Given the description of an element on the screen output the (x, y) to click on. 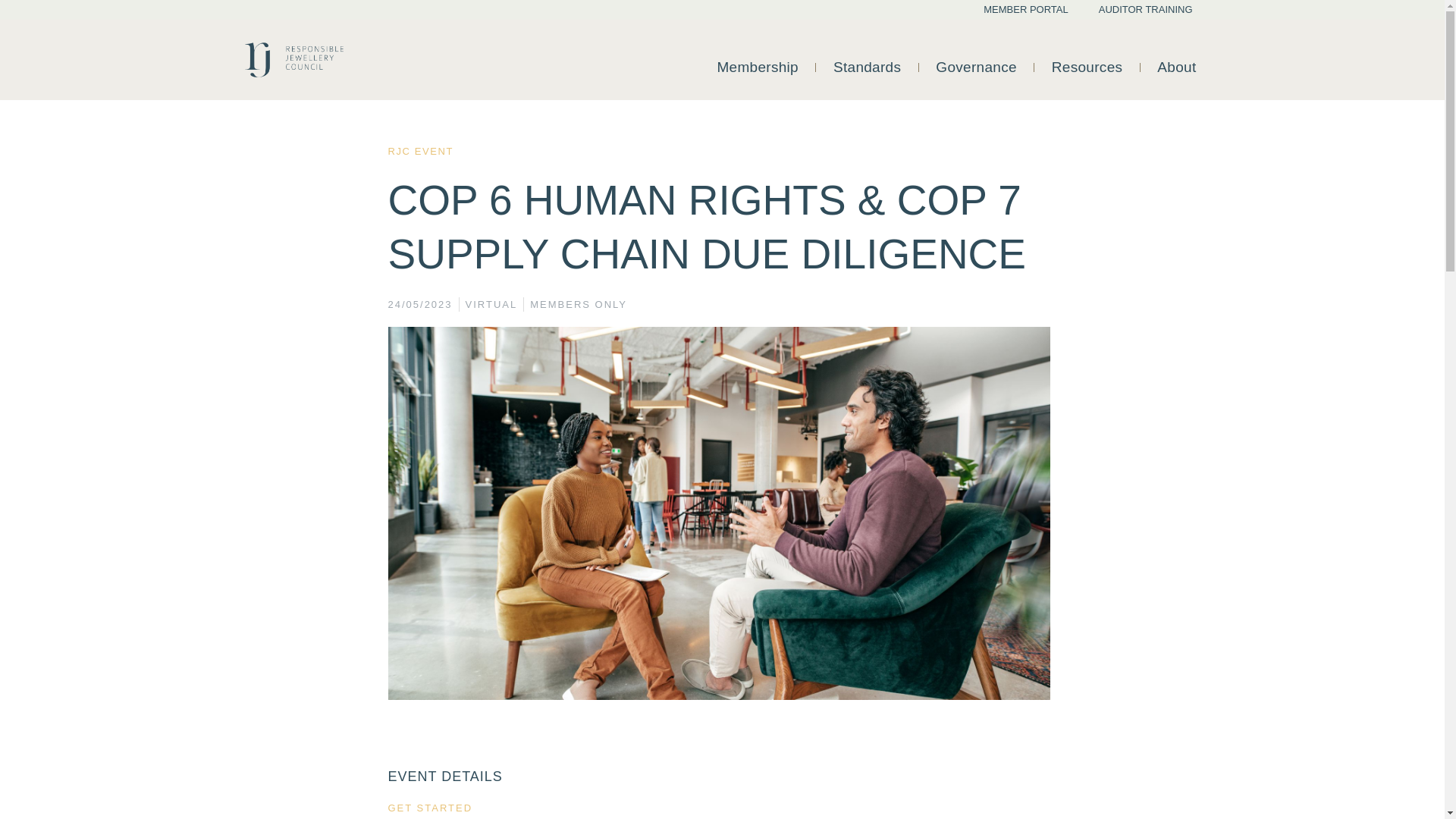
Standards (867, 67)
Governance (975, 67)
AUDITOR TRAINING (1145, 9)
Resources (1087, 67)
Membership (756, 67)
MEMBER PORTAL (1025, 9)
About (1176, 67)
